Given the description of an element on the screen output the (x, y) to click on. 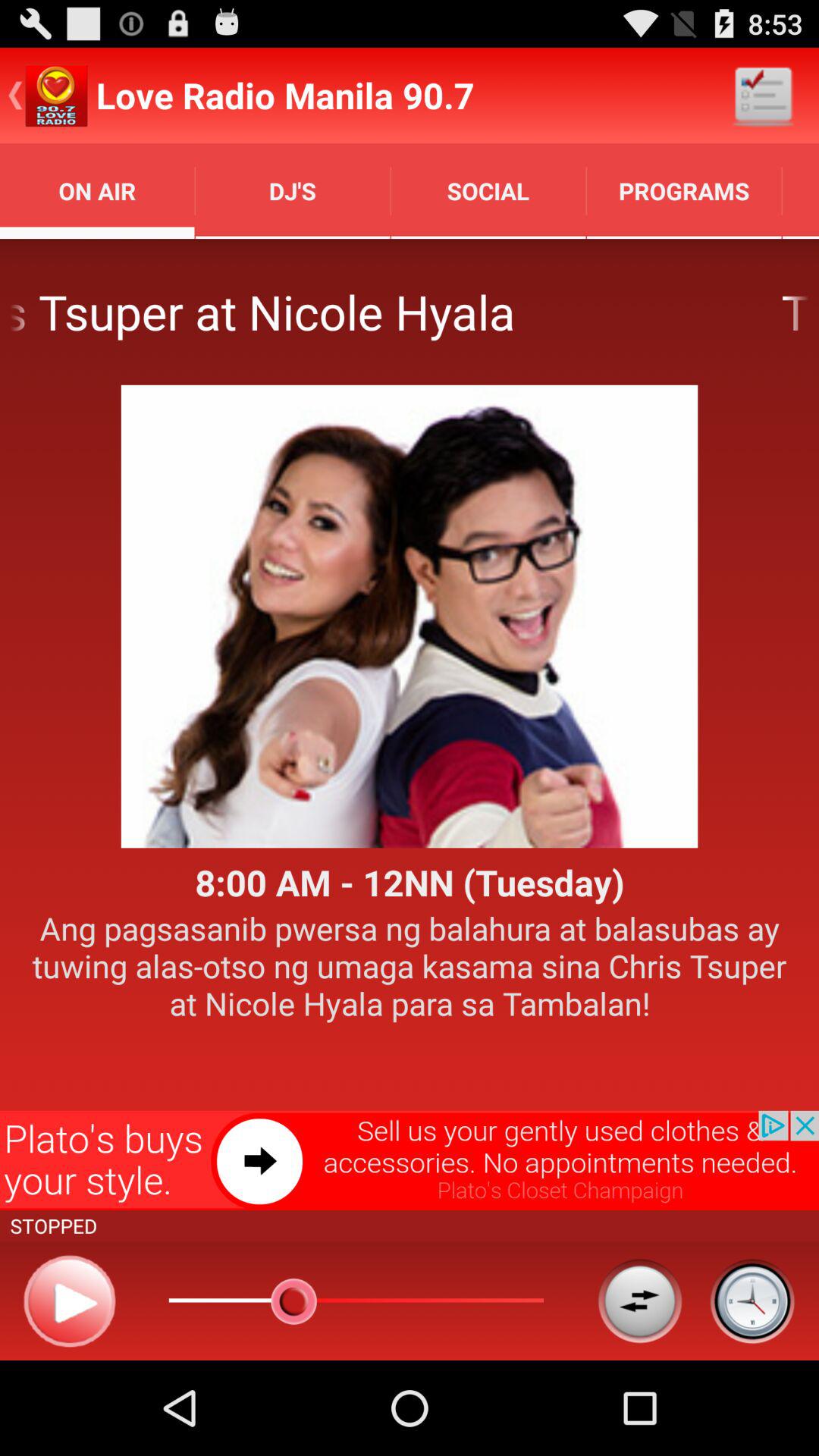
play continuously (639, 1300)
